Given the description of an element on the screen output the (x, y) to click on. 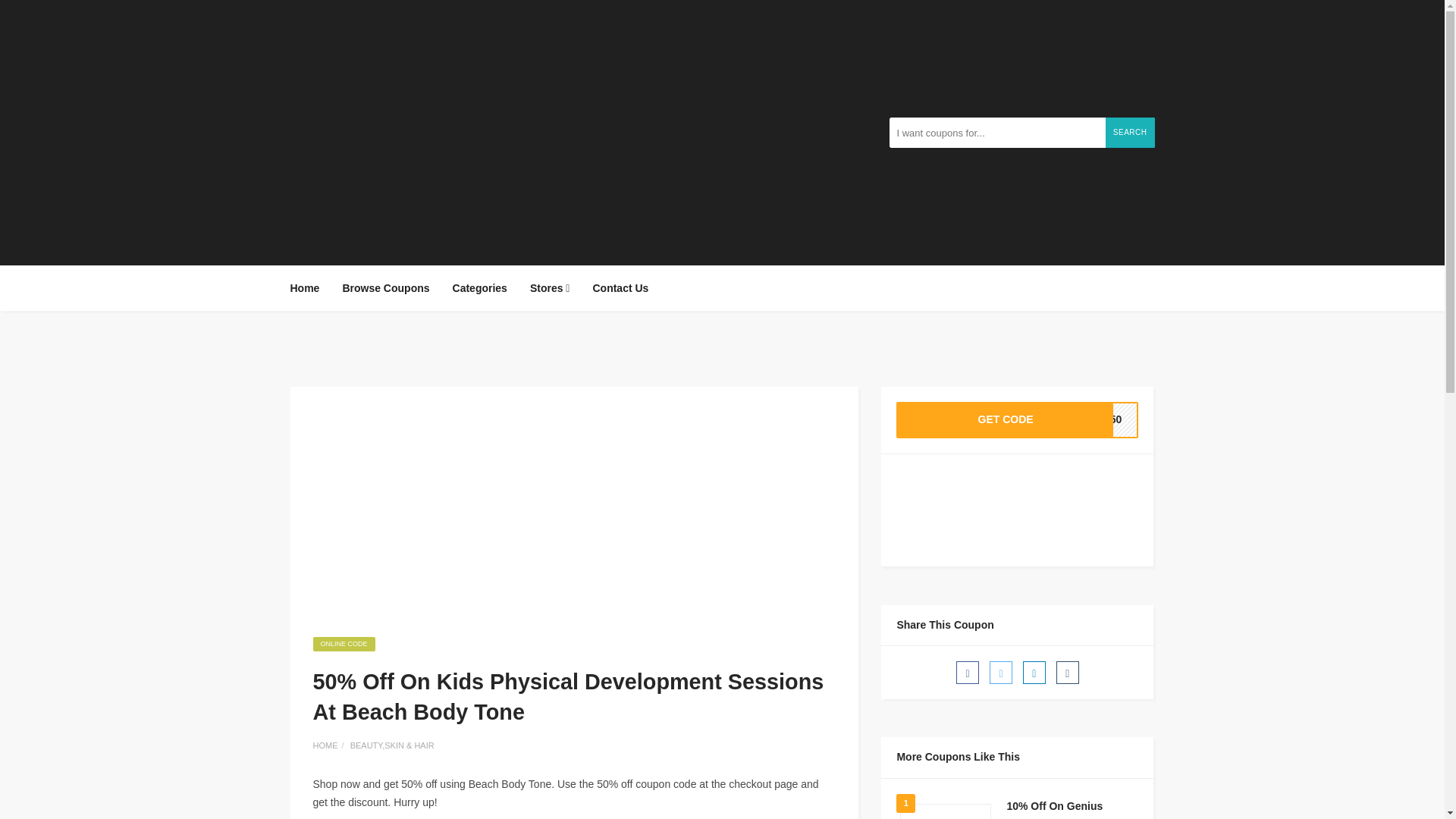
Browse Coupons (385, 288)
Home (1017, 420)
Categories (309, 288)
Share on Tumblr (479, 288)
Stores (1067, 671)
SEARCH (549, 288)
Share on Twitter (1129, 132)
Contact Us (1000, 671)
Browse Coupons (619, 288)
Share on LinkedIn (385, 288)
Categories (1034, 671)
Share on Facebook (479, 288)
Stores (967, 671)
Contact Us (549, 288)
